Given the description of an element on the screen output the (x, y) to click on. 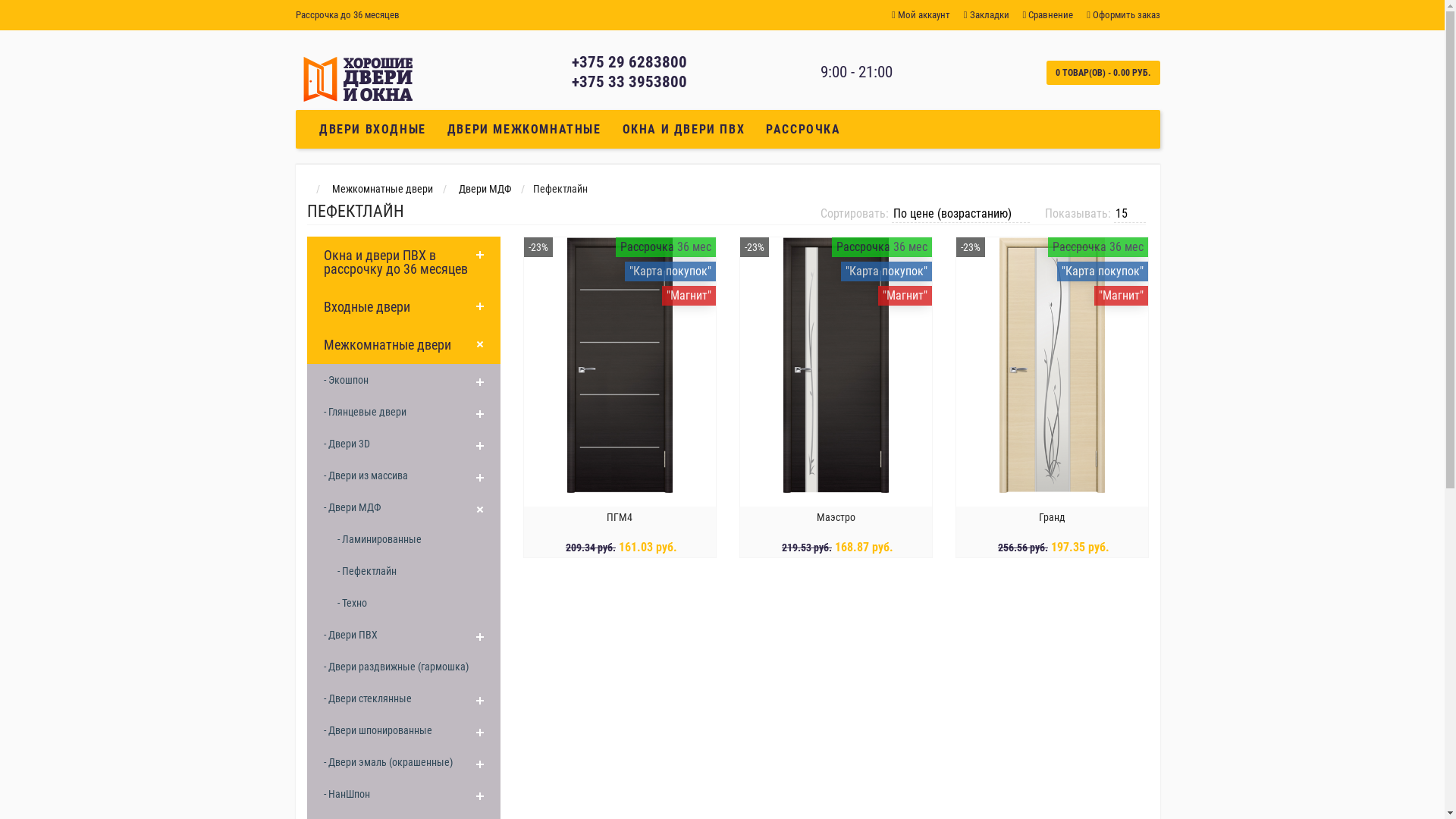
+375 33 3953800 Element type: text (629, 81)
+375 29 6283800 Element type: text (629, 62)
